Given the description of an element on the screen output the (x, y) to click on. 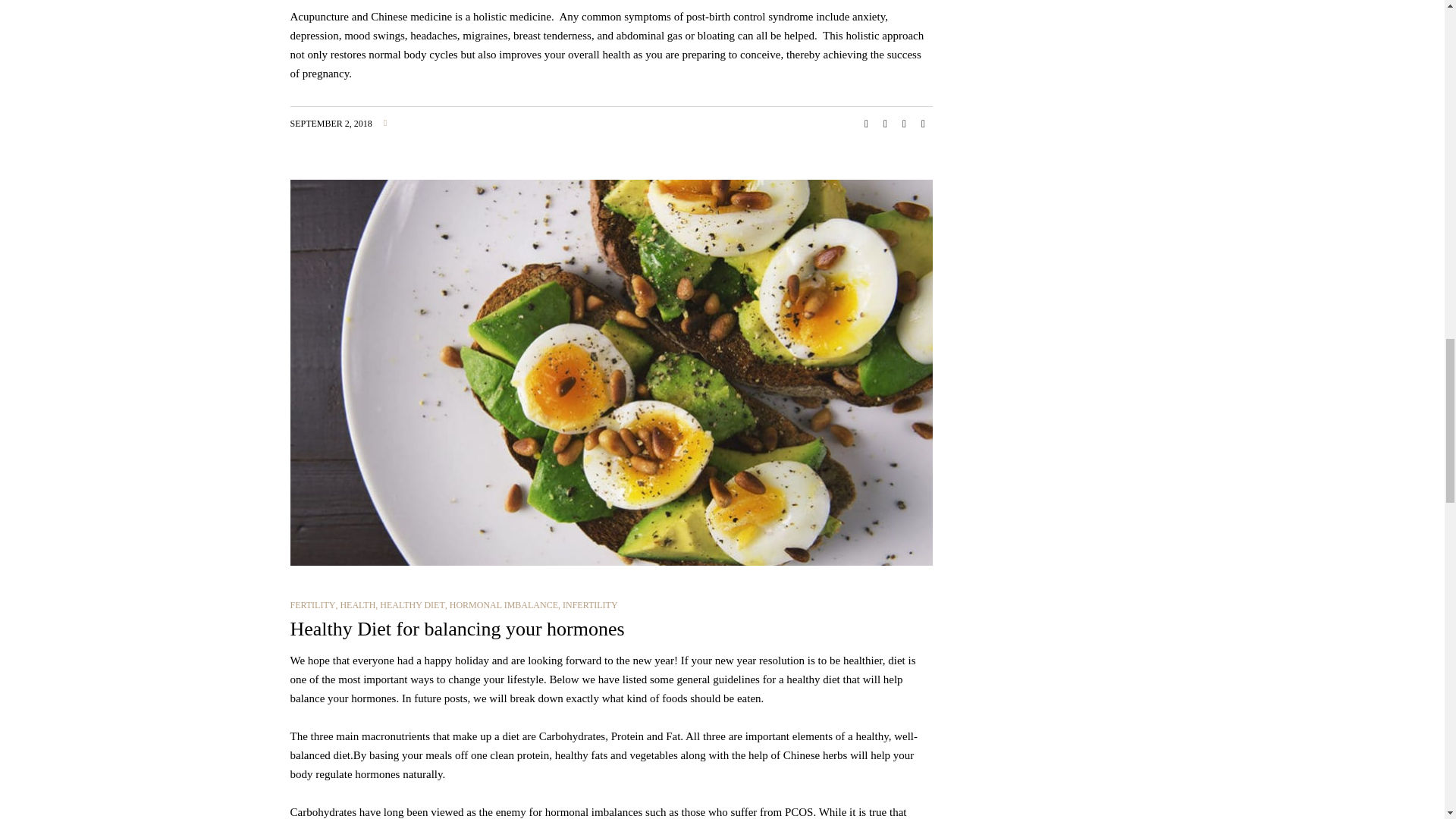
FERTILITY (311, 604)
HEALTH (357, 604)
Tweet this (885, 124)
Share with Google Plus (904, 124)
Share this (866, 124)
Pin this (923, 124)
